Given the description of an element on the screen output the (x, y) to click on. 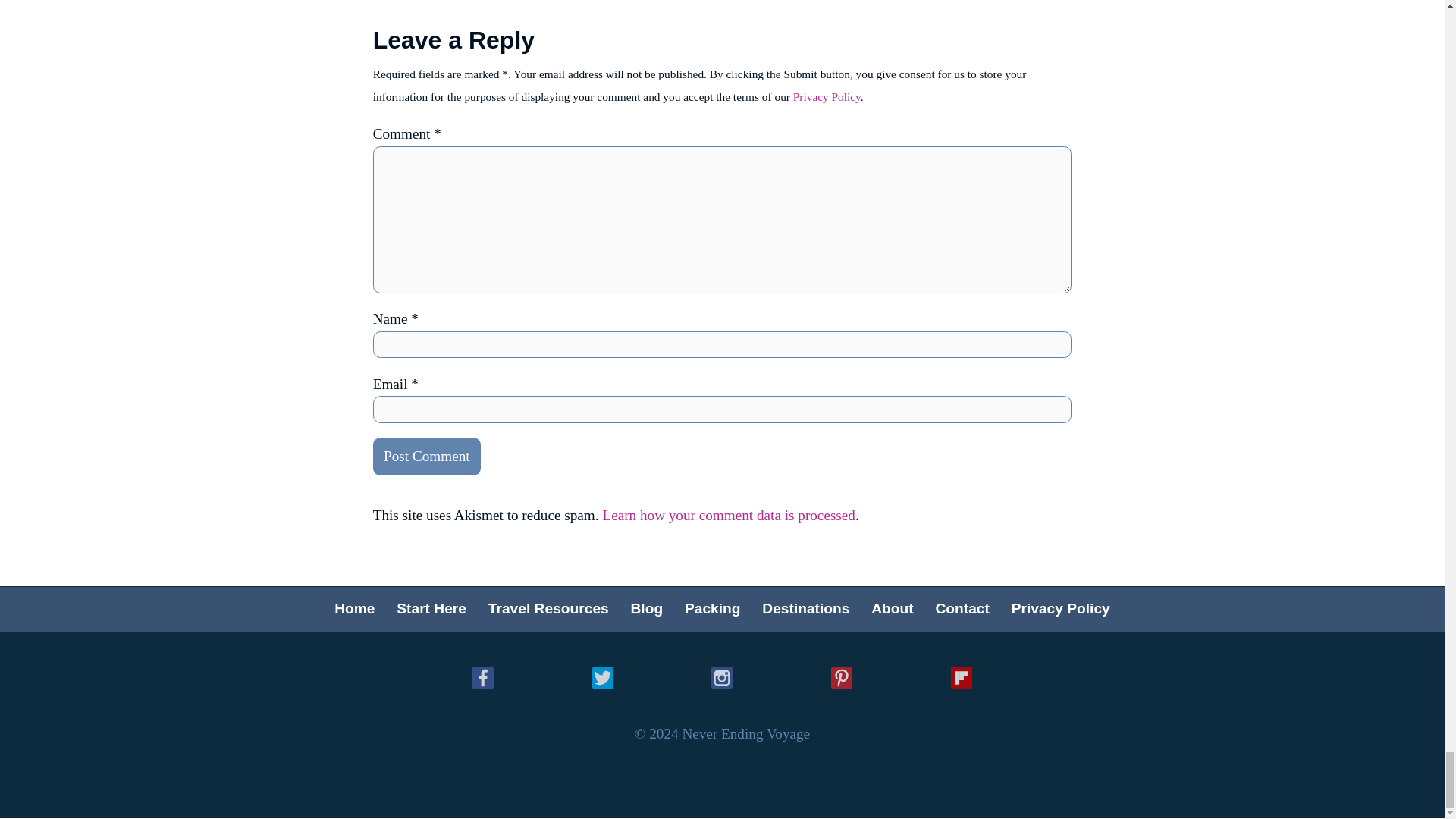
Follow us on Instagram (723, 678)
Follow us on Facebook (483, 678)
Follow us on Twitter (603, 678)
Follow us on Pinterest (843, 678)
Post Comment (426, 456)
